Given the description of an element on the screen output the (x, y) to click on. 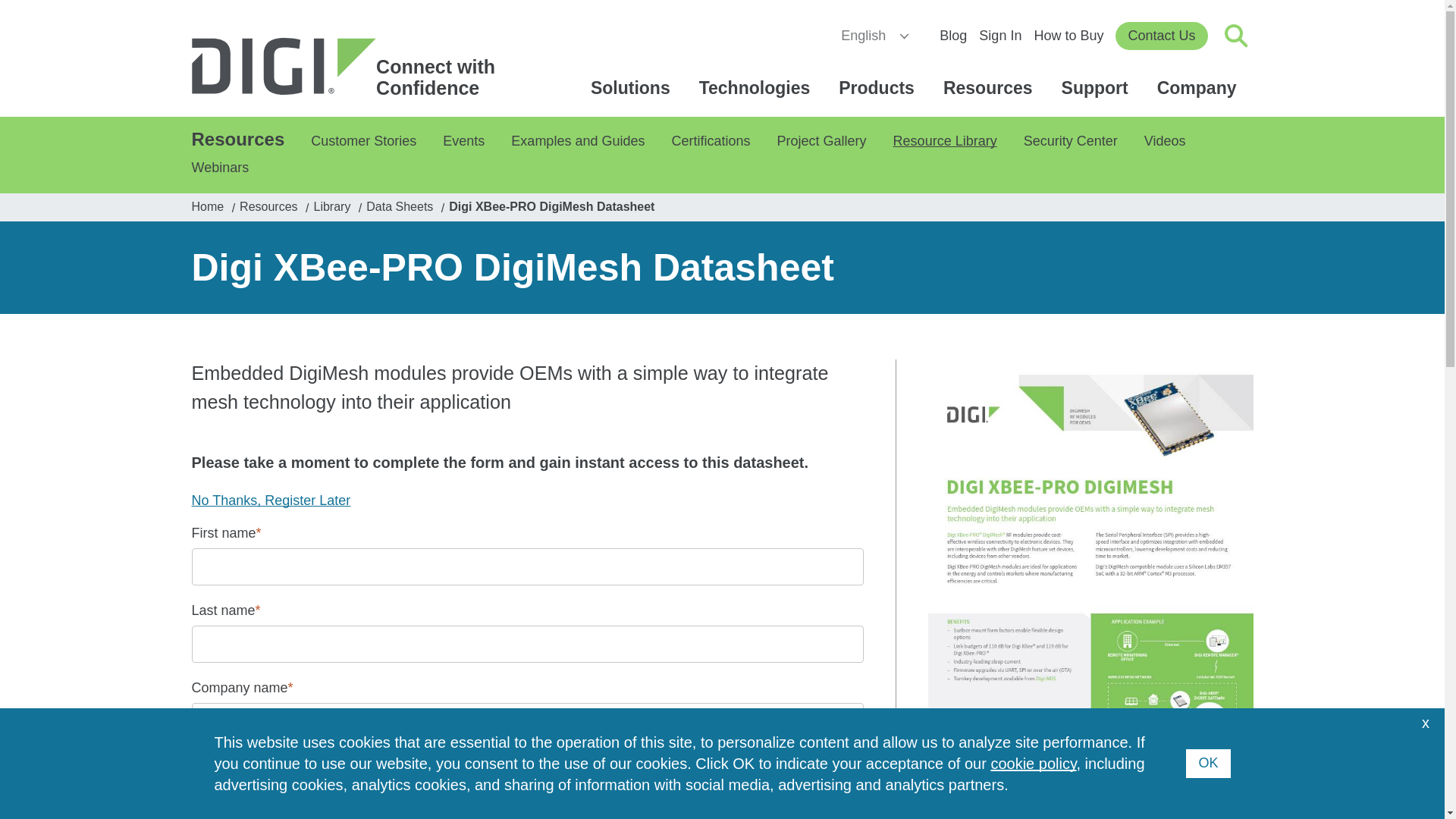
Click to toggle support menu (1096, 87)
Contact Us (1161, 36)
Click to toggle solutions menu (632, 87)
Sign In (1000, 35)
Blog (952, 35)
Click to toggle Search (1236, 35)
Click to toggle products menu (879, 87)
Home (349, 67)
Solutions (632, 87)
Technologies (757, 87)
